Given the description of an element on the screen output the (x, y) to click on. 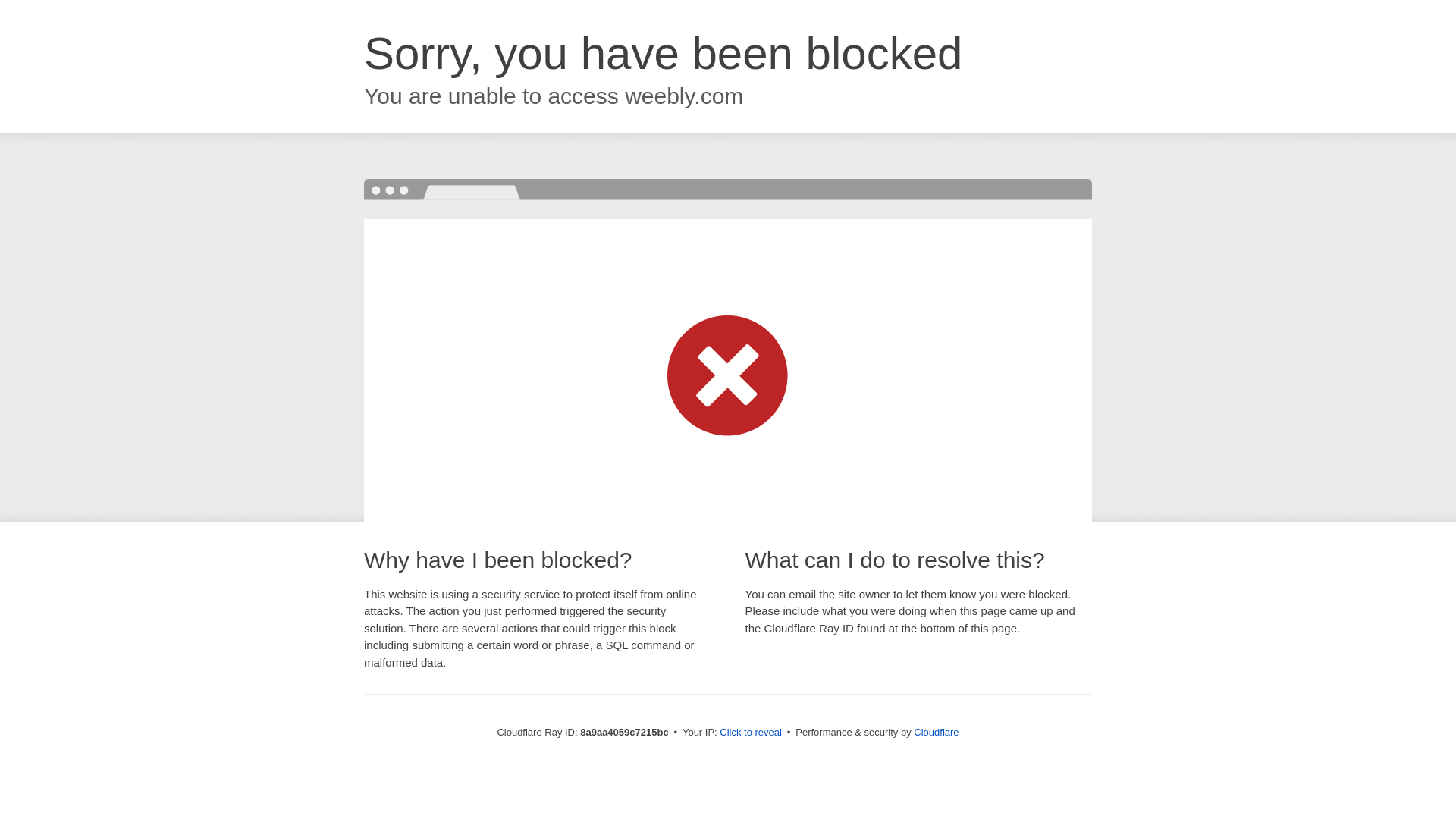
Click to reveal (750, 732)
Cloudflare (936, 731)
